Given the description of an element on the screen output the (x, y) to click on. 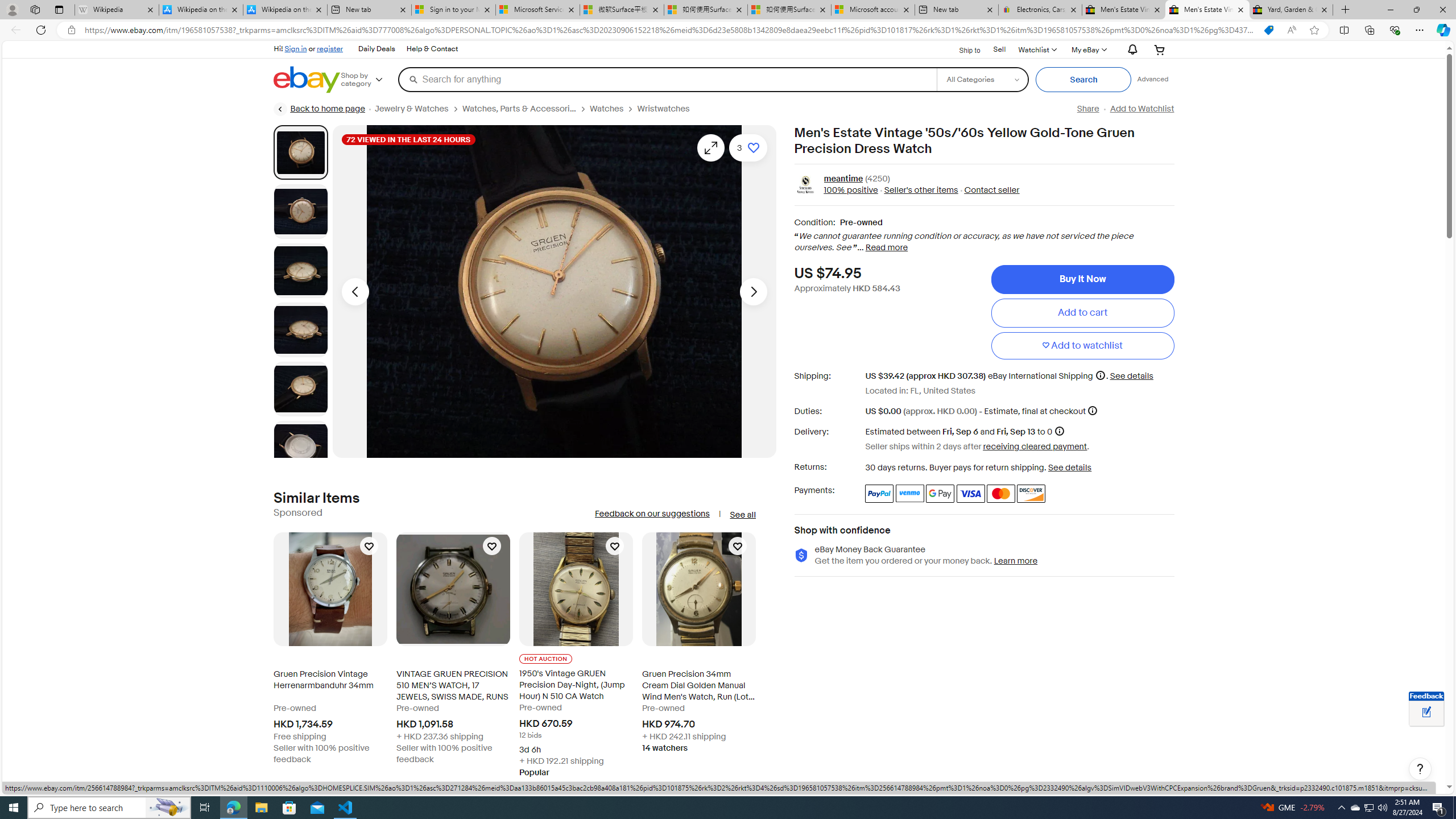
See details - for more information about returns (1070, 467)
Ship to (962, 50)
Picture 2 of 8 (300, 211)
Jewelry & Watches (411, 108)
Previous image - Item images thumbnails (354, 291)
Add to watchlist - 3 watchers (747, 147)
